Given the description of an element on the screen output the (x, y) to click on. 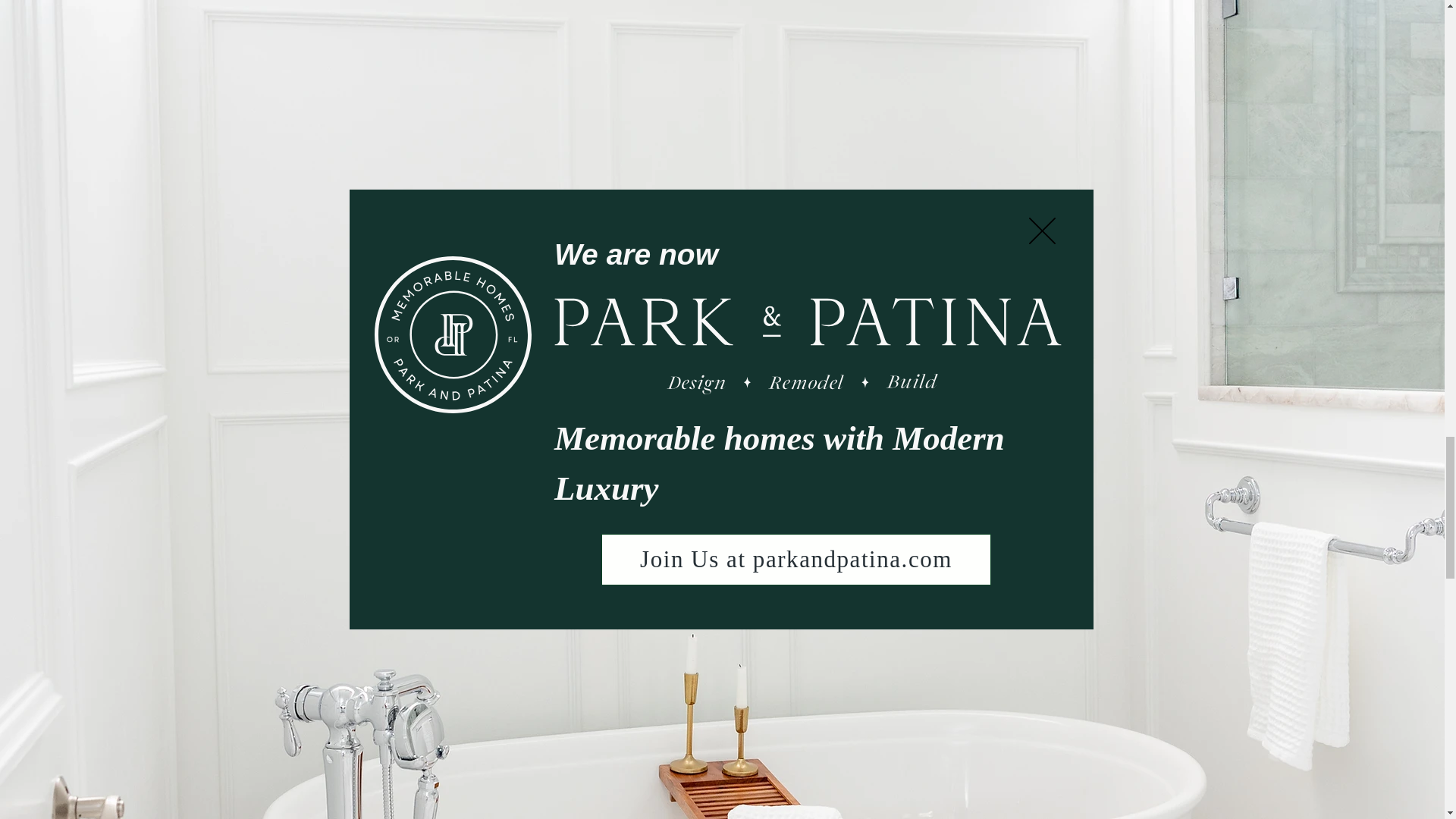
Refresh this page (920, 812)
